Given the description of an element on the screen output the (x, y) to click on. 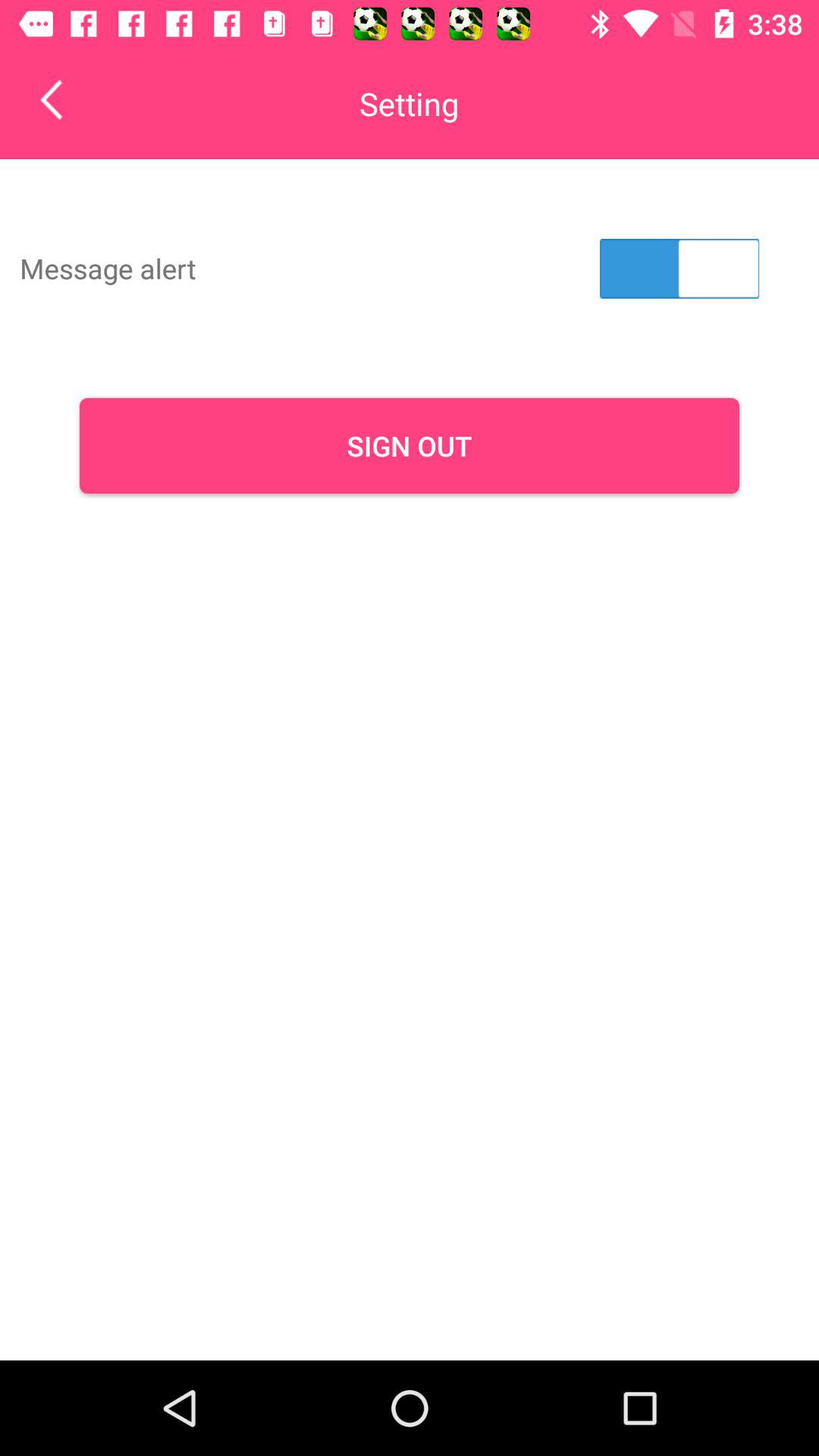
choose item next to the message alert (679, 268)
